Given the description of an element on the screen output the (x, y) to click on. 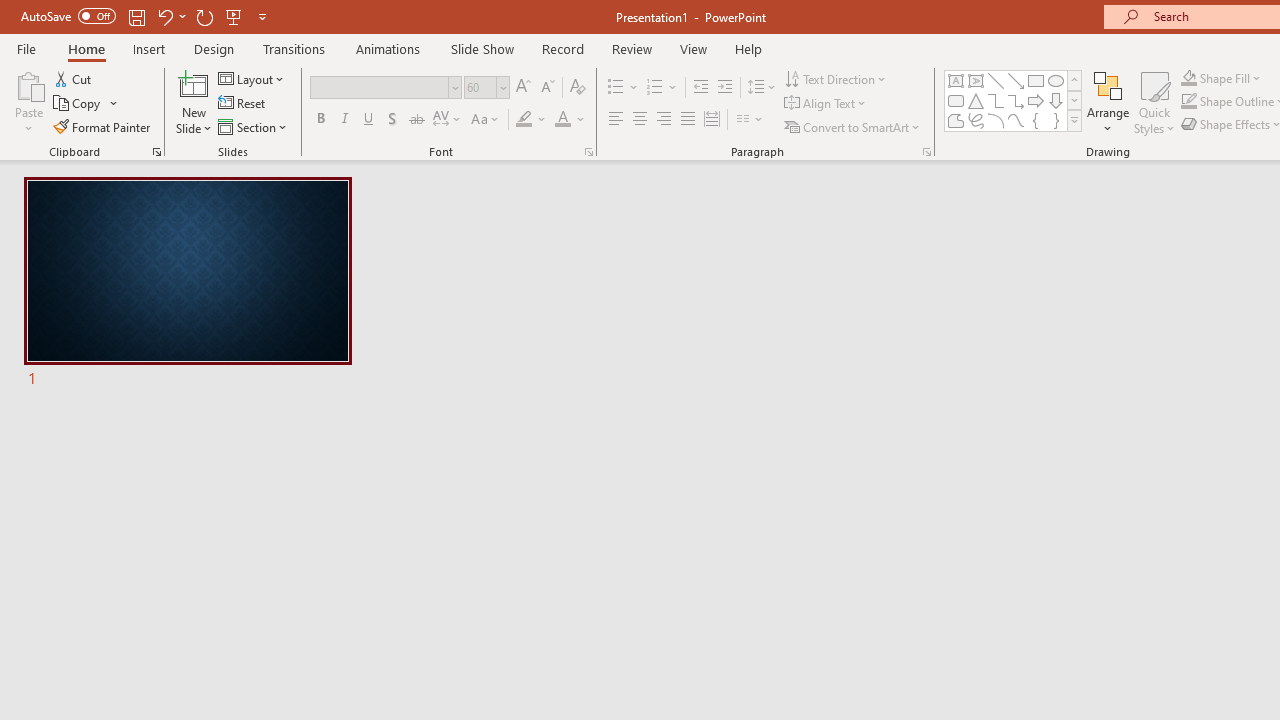
Format Painter (103, 126)
Shape Fill Orange, Accent 2 (1188, 78)
Class: NetUIImage (1075, 120)
Line Arrow (1016, 80)
Open (502, 87)
Underline (369, 119)
Font Size (486, 87)
Text Box (955, 80)
Font Color Red (562, 119)
Row Down (1074, 100)
Oval (1055, 80)
Character Spacing (447, 119)
